Given the description of an element on the screen output the (x, y) to click on. 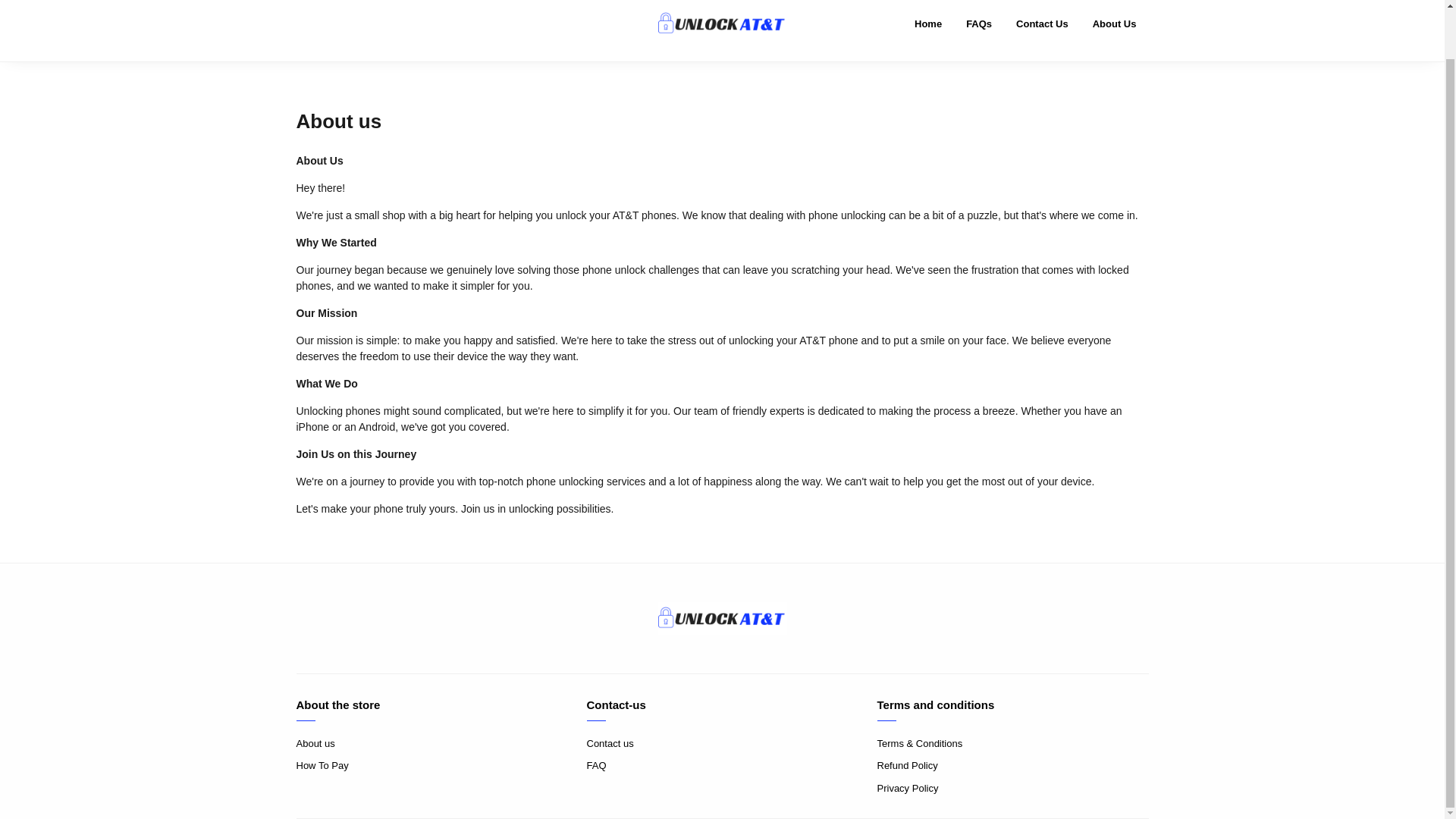
FAQ (722, 765)
About us (431, 743)
Contact us (722, 743)
How To Pay (431, 765)
Refund Policy (1012, 765)
Contact Us (1042, 30)
Privacy Policy (1012, 787)
About Us (1114, 30)
